Given the description of an element on the screen output the (x, y) to click on. 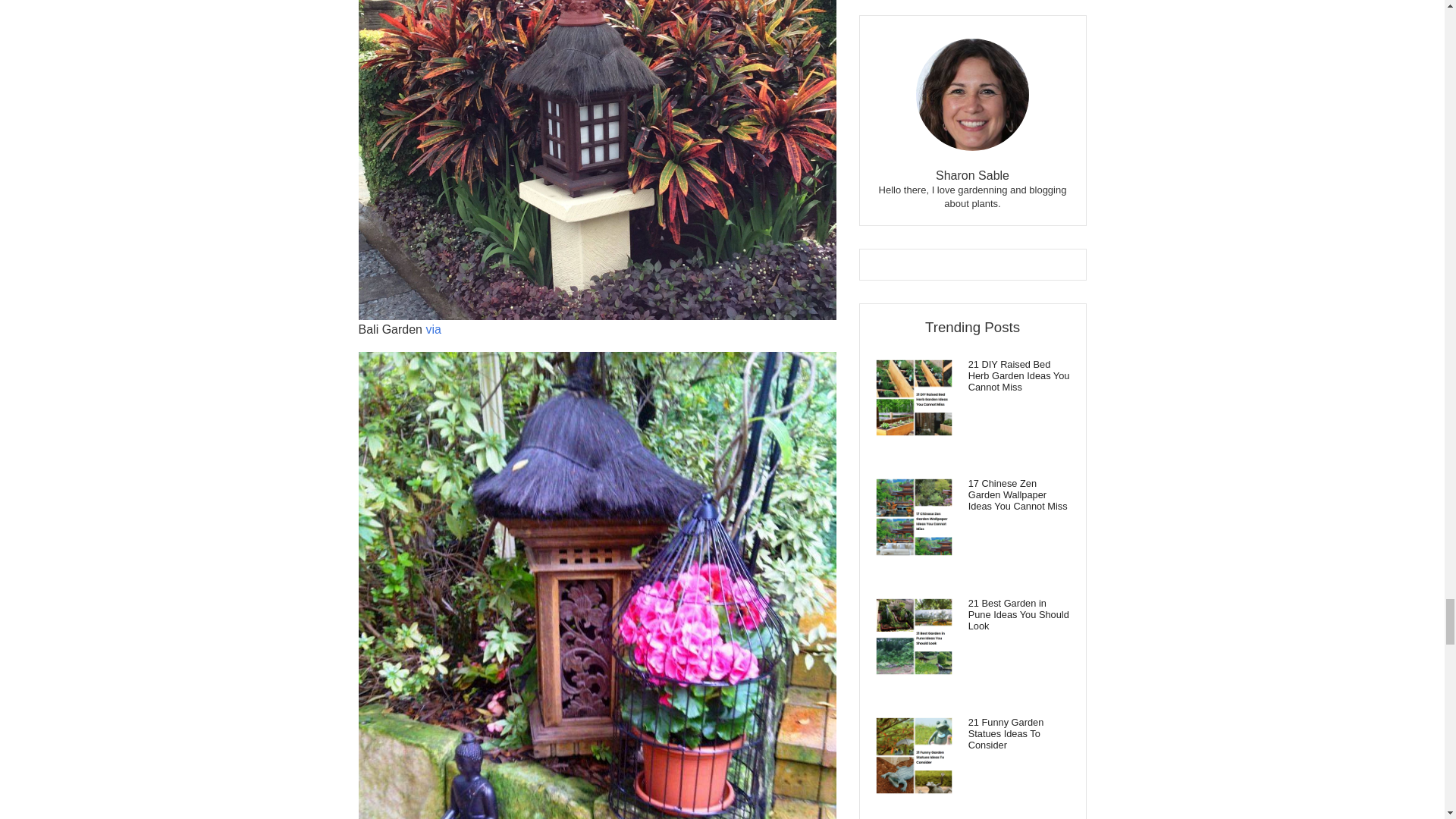
via (433, 328)
